Given the description of an element on the screen output the (x, y) to click on. 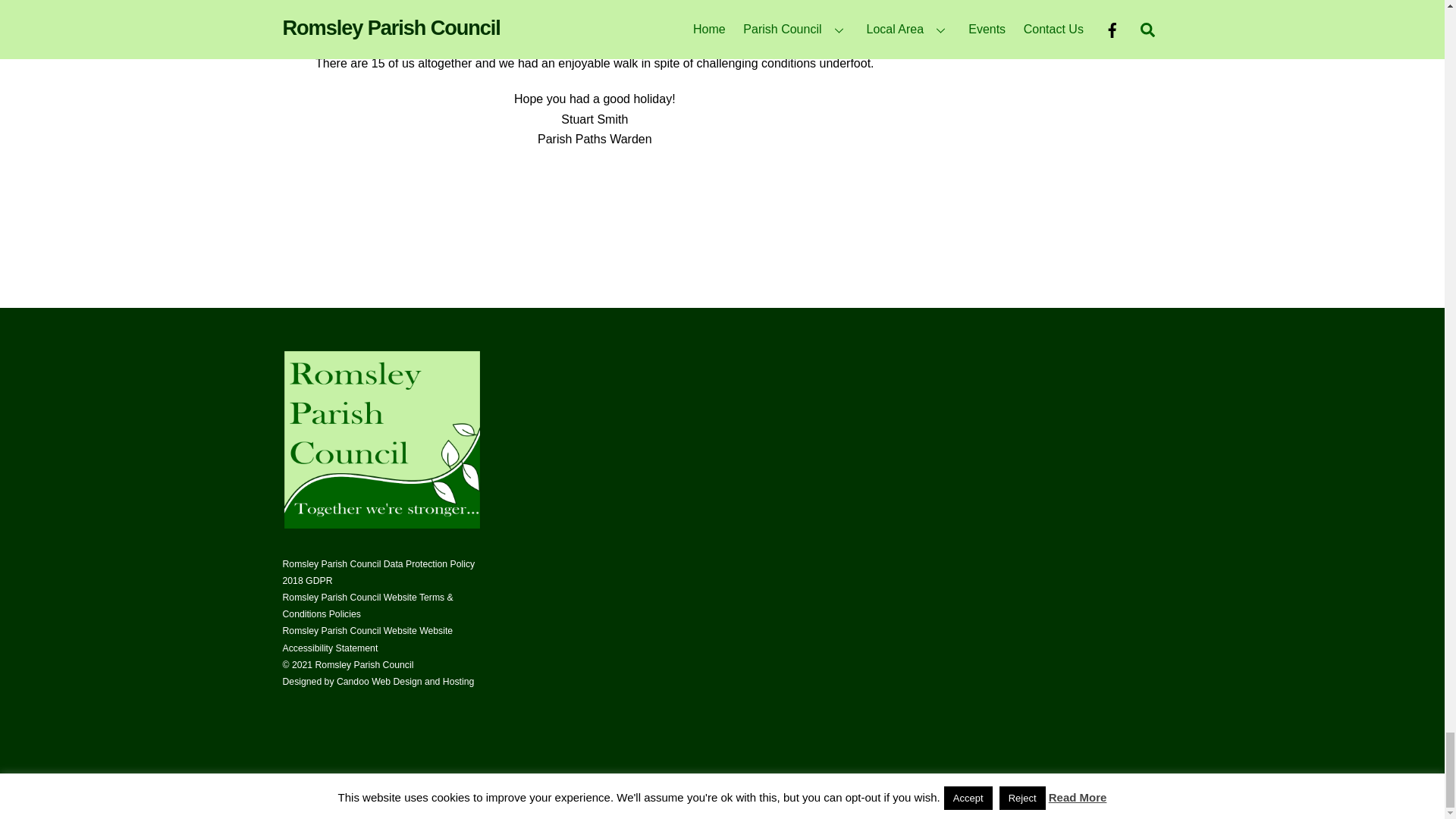
Romsley Parish Council (381, 524)
Candoo Web Design and Hosting (405, 681)
